Given the description of an element on the screen output the (x, y) to click on. 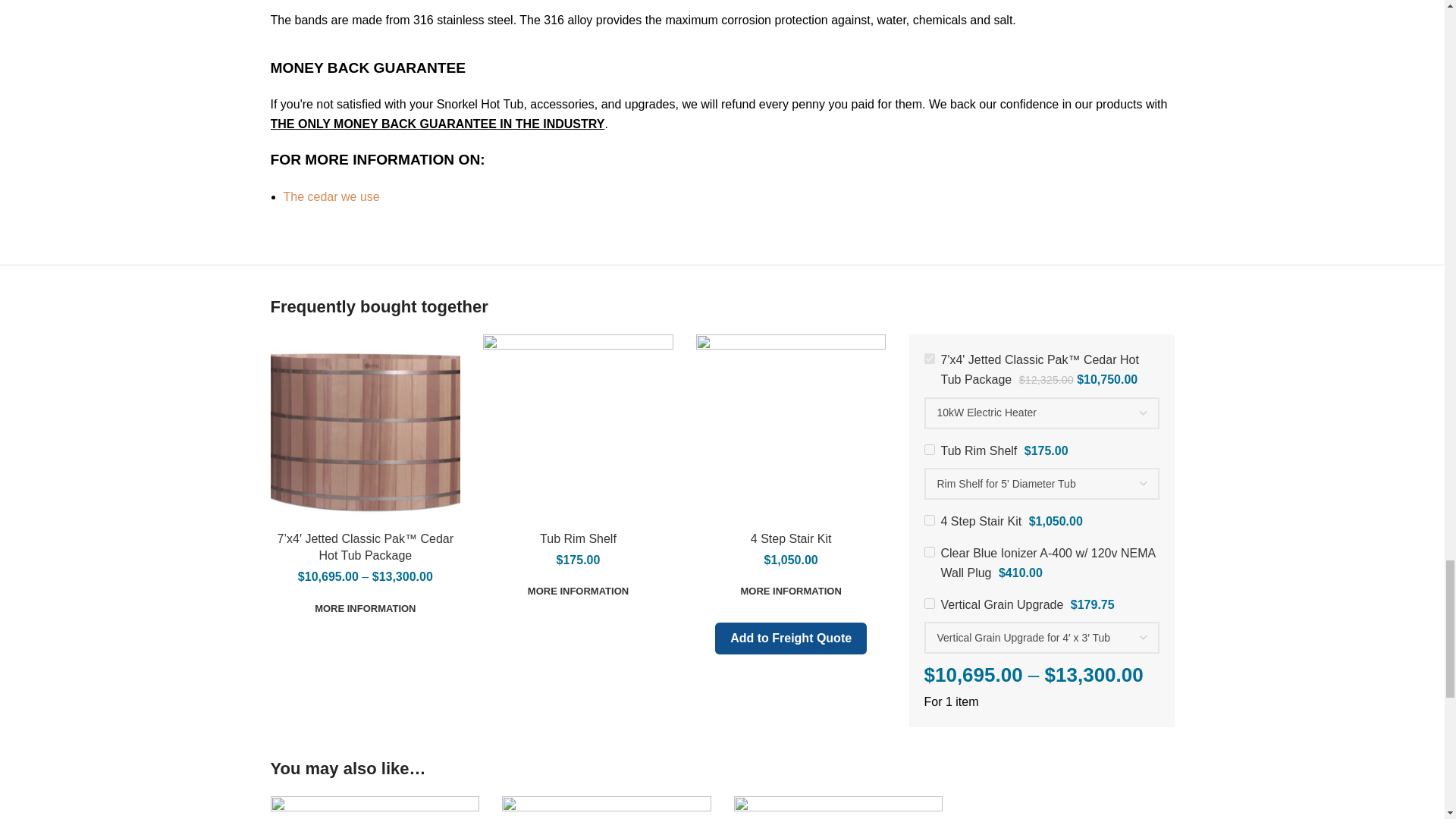
on (928, 520)
on (928, 357)
on (928, 552)
on (928, 449)
on (928, 603)
